Given the description of an element on the screen output the (x, y) to click on. 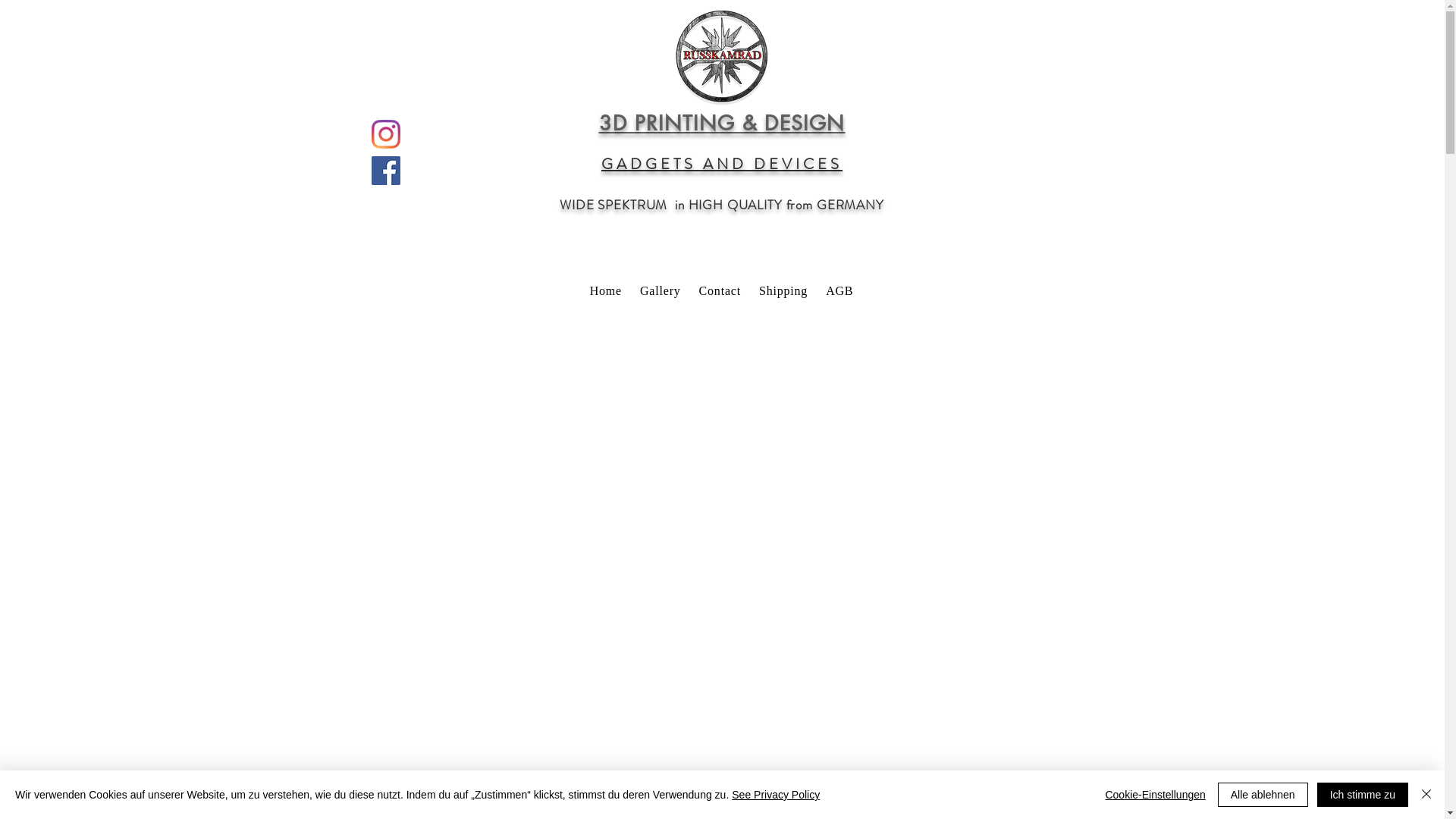
Alle ablehnen Element type: text (1262, 794)
Contact Element type: text (719, 290)
Home Element type: text (605, 290)
Shipping Element type: text (783, 290)
See Privacy Policy Element type: text (775, 794)
AGB Element type: text (839, 290)
3D PRINTING & DESIGN Element type: text (722, 122)
Gallery Element type: text (660, 290)
Ich stimme zu Element type: text (1362, 794)
